Given the description of an element on the screen output the (x, y) to click on. 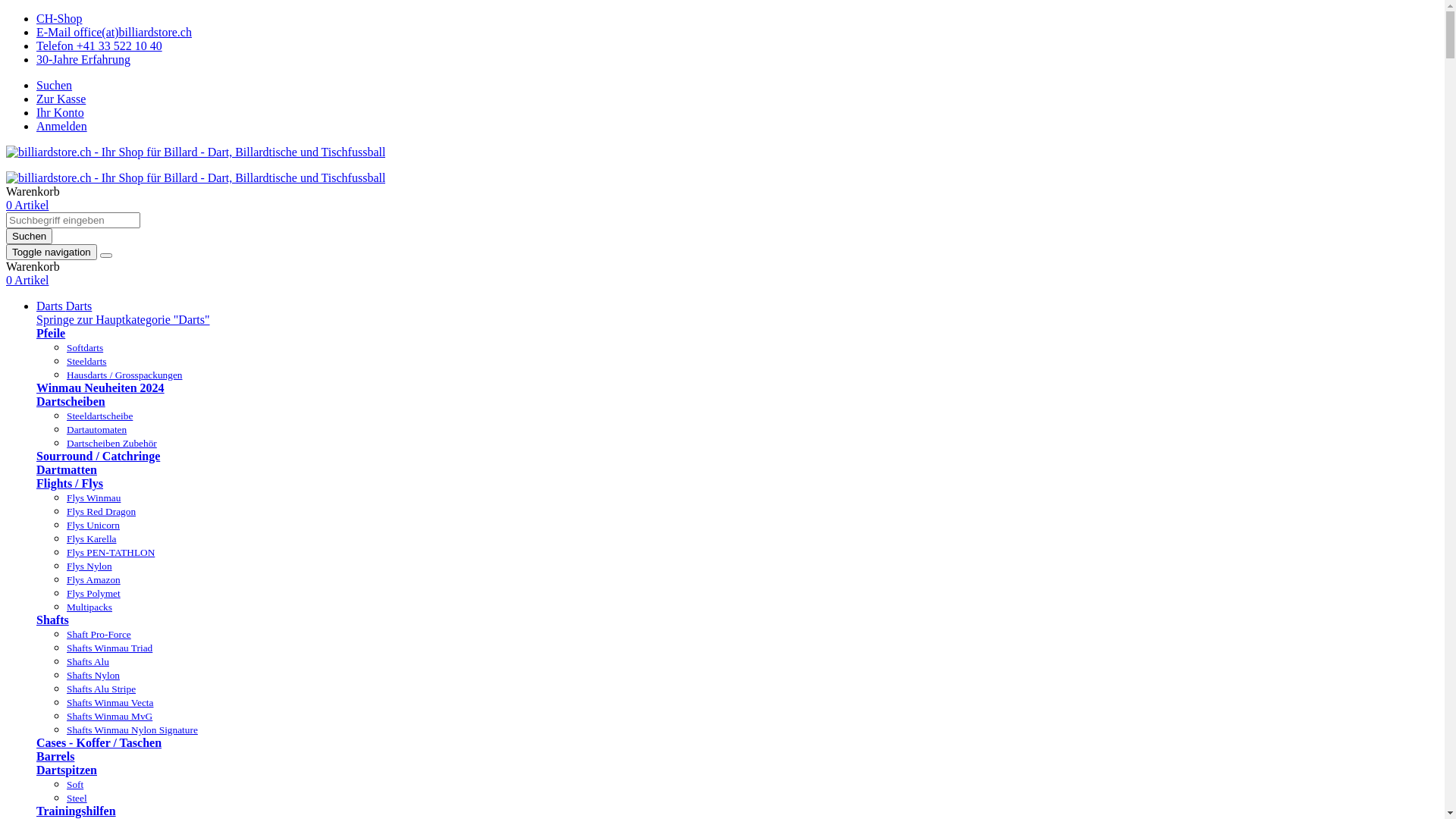
0 Artikel Element type: text (27, 279)
Steeldarts Element type: text (86, 360)
Sourround / Catchringe Element type: text (98, 455)
Steel Element type: text (76, 796)
Shafts Winmau Nylon Signature Element type: text (131, 728)
Soft Element type: text (74, 783)
Dartscheiben Element type: text (70, 401)
Darts Element type: text (50, 305)
Flights / Flys Element type: text (69, 482)
E-Mail office(at)billiardstore.ch Element type: text (113, 31)
Shafts Winmau MvG Element type: text (109, 715)
Dartautomaten Element type: text (96, 428)
Dartspitzen Element type: text (66, 769)
Pfeile Element type: text (50, 332)
Warenkorb
0 Artikel Element type: text (722, 273)
Softdarts Element type: text (84, 346)
Trainingshilfen Element type: text (76, 810)
Steeldartscheibe Element type: text (99, 414)
Flys Unicorn Element type: text (92, 523)
Zur Kasse Element type: text (60, 98)
Flys Polymet Element type: text (93, 592)
Toggle navigation Element type: text (51, 252)
Shafts Winmau Triad Element type: text (109, 646)
Anmelden Element type: text (61, 125)
Dartmatten Element type: text (66, 469)
Flys Winmau Element type: text (93, 496)
30-Jahre Erfahrung Element type: text (83, 59)
Flys Red Dragon Element type: text (100, 510)
Winmau Neuheiten 2024 Element type: text (100, 387)
Shafts Nylon Element type: text (92, 674)
Hausdarts / Grosspackungen Element type: text (124, 373)
Warenkorb
0 Artikel Element type: text (722, 198)
Telefon +41 33 522 10 40 Element type: text (99, 45)
Shafts Winmau Vecta Element type: text (109, 701)
Barrels Element type: text (55, 755)
Springe zur Hauptkategorie "Darts" Element type: text (123, 319)
Multipacks Element type: text (89, 605)
CH-Shop Element type: text (58, 18)
Suchen Element type: text (54, 84)
Flys Karella Element type: text (91, 537)
Shafts Alu Element type: text (87, 660)
Ihr Konto Element type: text (60, 112)
Shafts Element type: text (52, 619)
Flys Amazon Element type: text (93, 578)
Shaft Pro-Force Element type: text (98, 633)
Cases - Koffer / Taschen Element type: text (98, 742)
0 Artikel Element type: text (27, 204)
Flys Nylon Element type: text (89, 564)
Flys PEN-TATHLON Element type: text (110, 551)
Darts Element type: text (78, 305)
Shafts Alu Stripe Element type: text (100, 687)
Suchen Element type: text (29, 236)
